Given the description of an element on the screen output the (x, y) to click on. 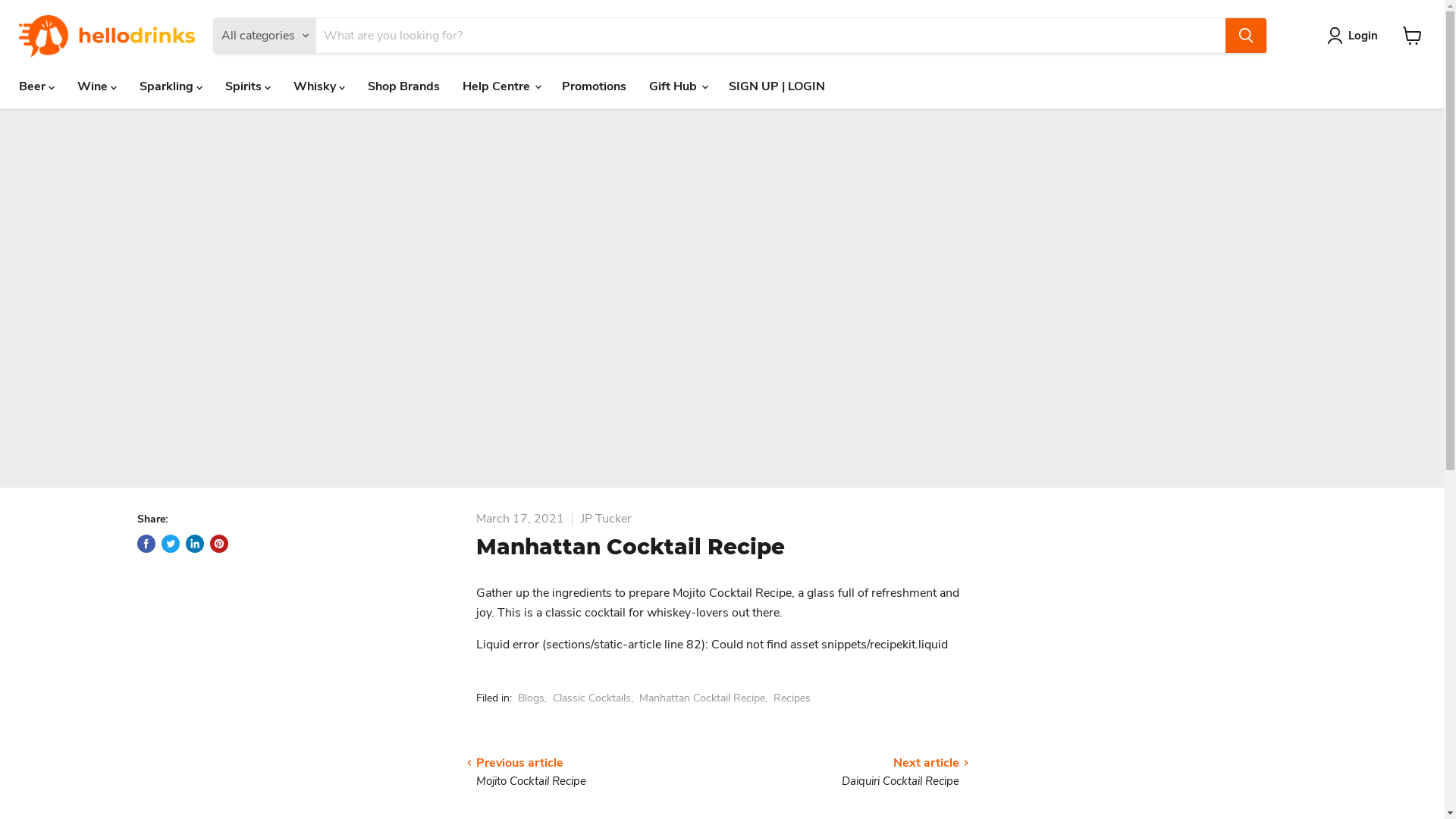
Blogs Element type: text (530, 697)
Manhattan Cocktail Recipe Element type: text (701, 697)
Tweet on Twitter Element type: text (169, 543)
Login Element type: text (1362, 35)
Classic Cocktails Element type: text (591, 697)
SIGN UP | LOGIN Element type: text (776, 86)
Promotions Element type: text (593, 86)
Pin on Pinterest Element type: text (218, 543)
Share on LinkedIn Element type: text (194, 543)
Share on Facebook Element type: text (145, 543)
View cart Element type: text (1412, 35)
Shop Brands Element type: text (403, 86)
Recipes Element type: text (791, 697)
